Given the description of an element on the screen output the (x, y) to click on. 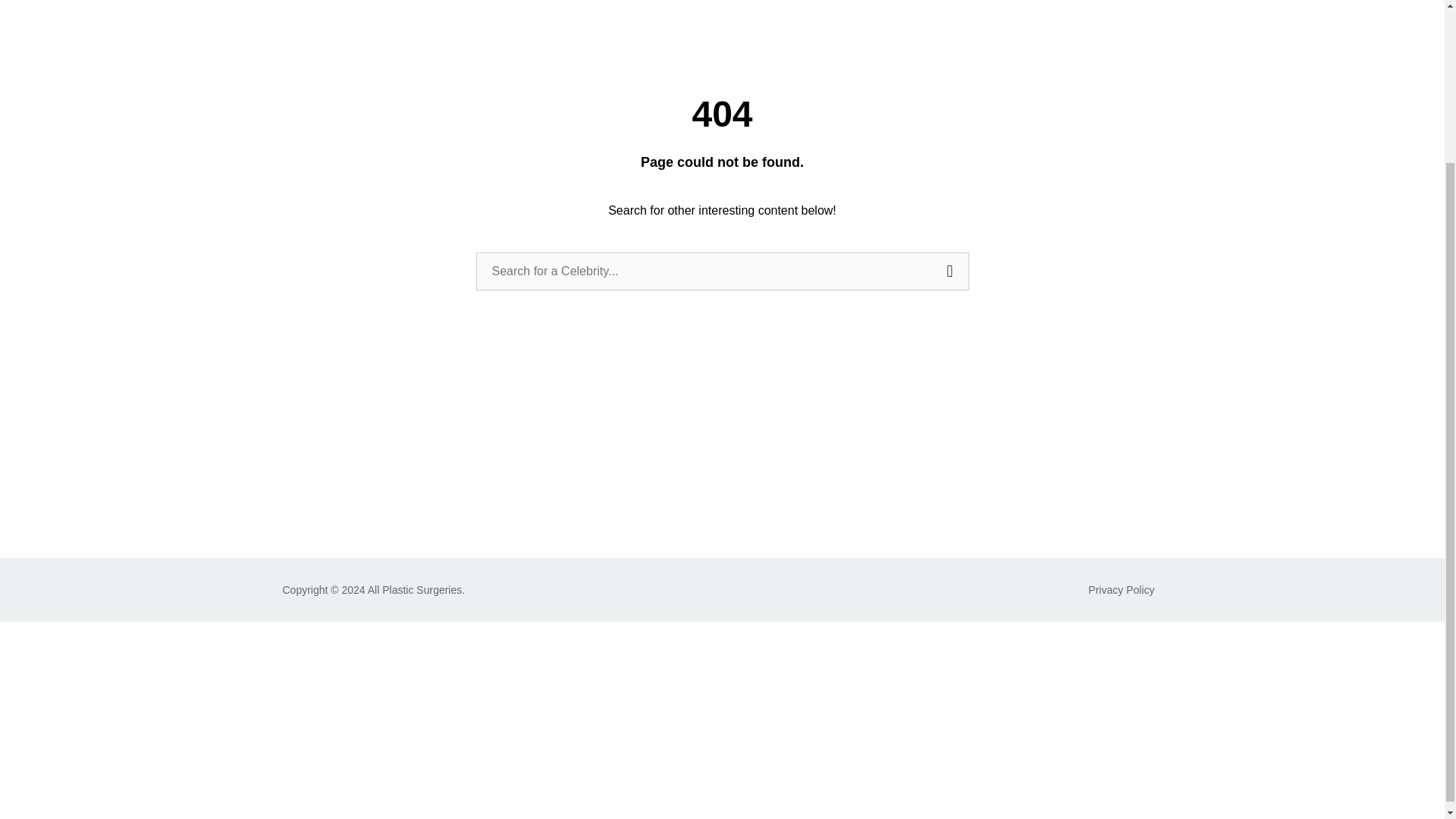
Search (950, 271)
Privacy Policy (1120, 589)
